Given the description of an element on the screen output the (x, y) to click on. 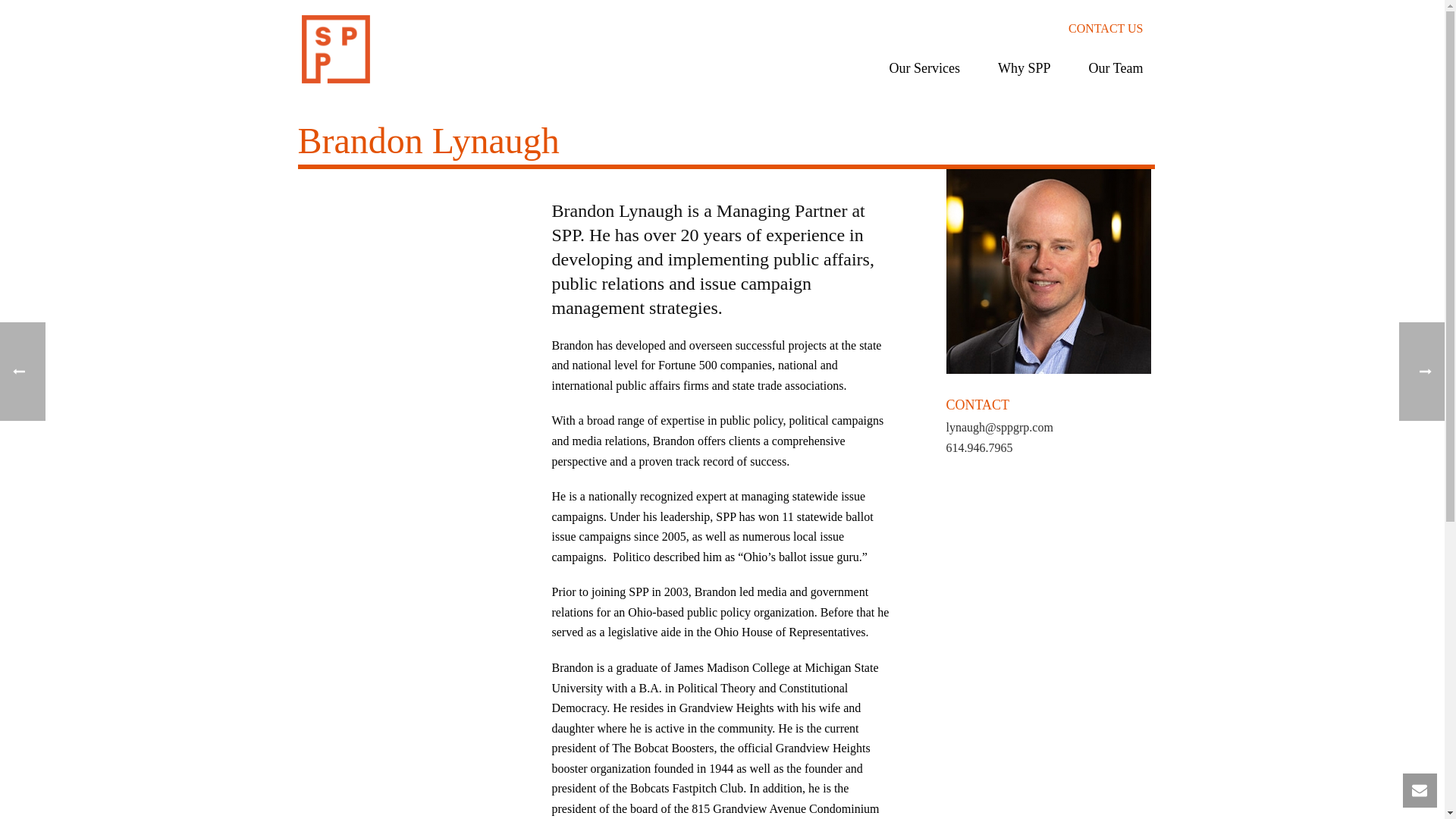
Our Services (924, 75)
Strategic Public Partners (335, 49)
Brandon Lynaugh (1048, 270)
Our Services (924, 75)
Our Team (1115, 75)
Our Team (1115, 75)
Why SPP (1024, 75)
CONTACT US (1105, 28)
Why SPP (1024, 75)
